Given the description of an element on the screen output the (x, y) to click on. 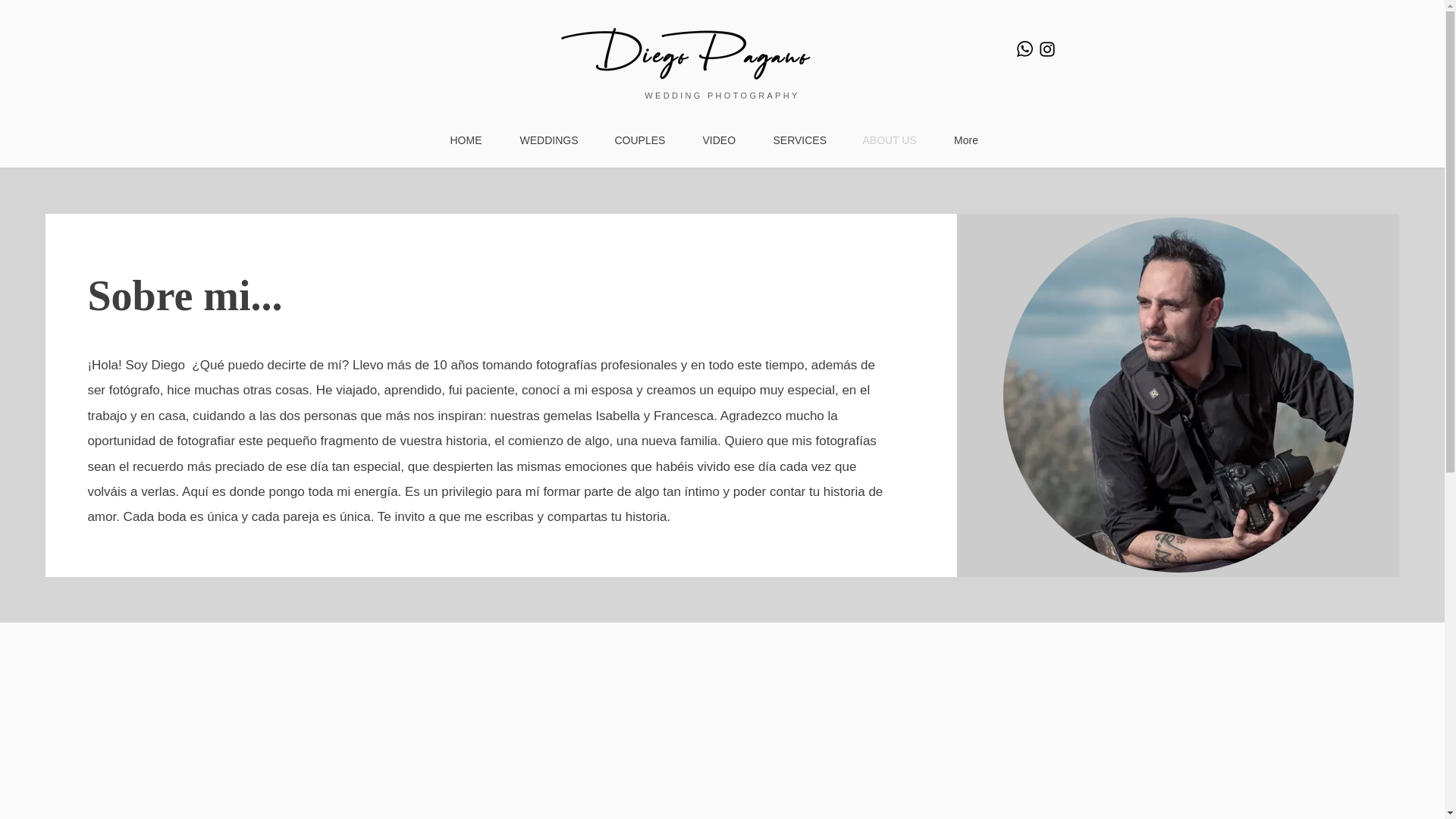
COUPLES (639, 138)
HOME (465, 138)
ABOUT US (888, 138)
VIDEO (719, 138)
WEDDINGS (547, 138)
SERVICES (798, 138)
